Given the description of an element on the screen output the (x, y) to click on. 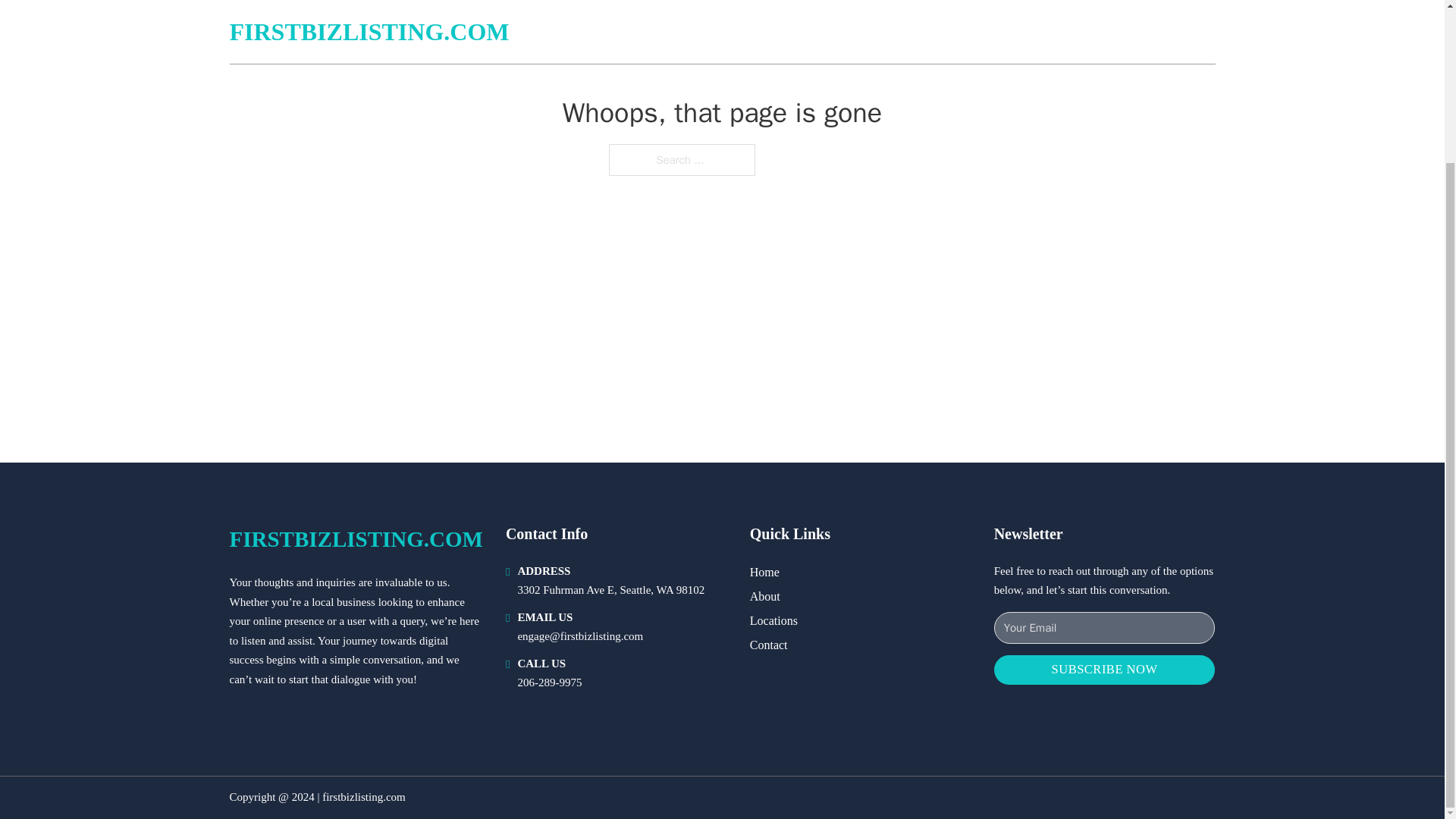
About (764, 596)
FIRSTBIZLISTING.COM (354, 538)
206-289-9975 (548, 682)
Home (763, 571)
Contact (768, 644)
Locations (773, 620)
SUBSCRIBE NOW (1104, 669)
